Given the description of an element on the screen output the (x, y) to click on. 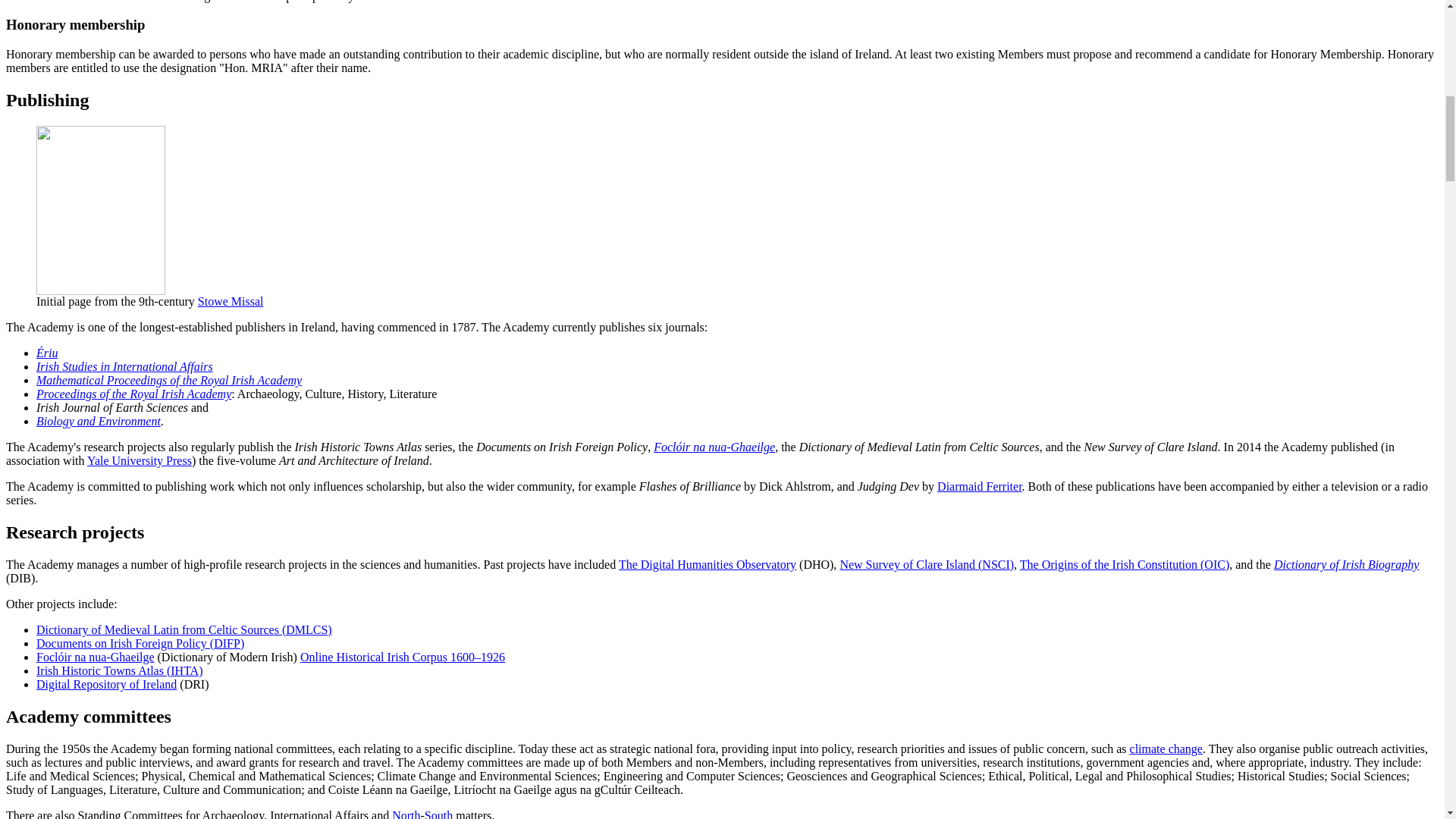
Stowe Missal (230, 300)
Mathematical Proceedings of the Royal Irish Academy (168, 379)
Proceedings of the Royal Irish Academy (133, 393)
Irish Studies in International Affairs (124, 366)
Yale University Press (139, 460)
Biology and Environment (98, 420)
Diarmaid Ferriter (979, 486)
